Given the description of an element on the screen output the (x, y) to click on. 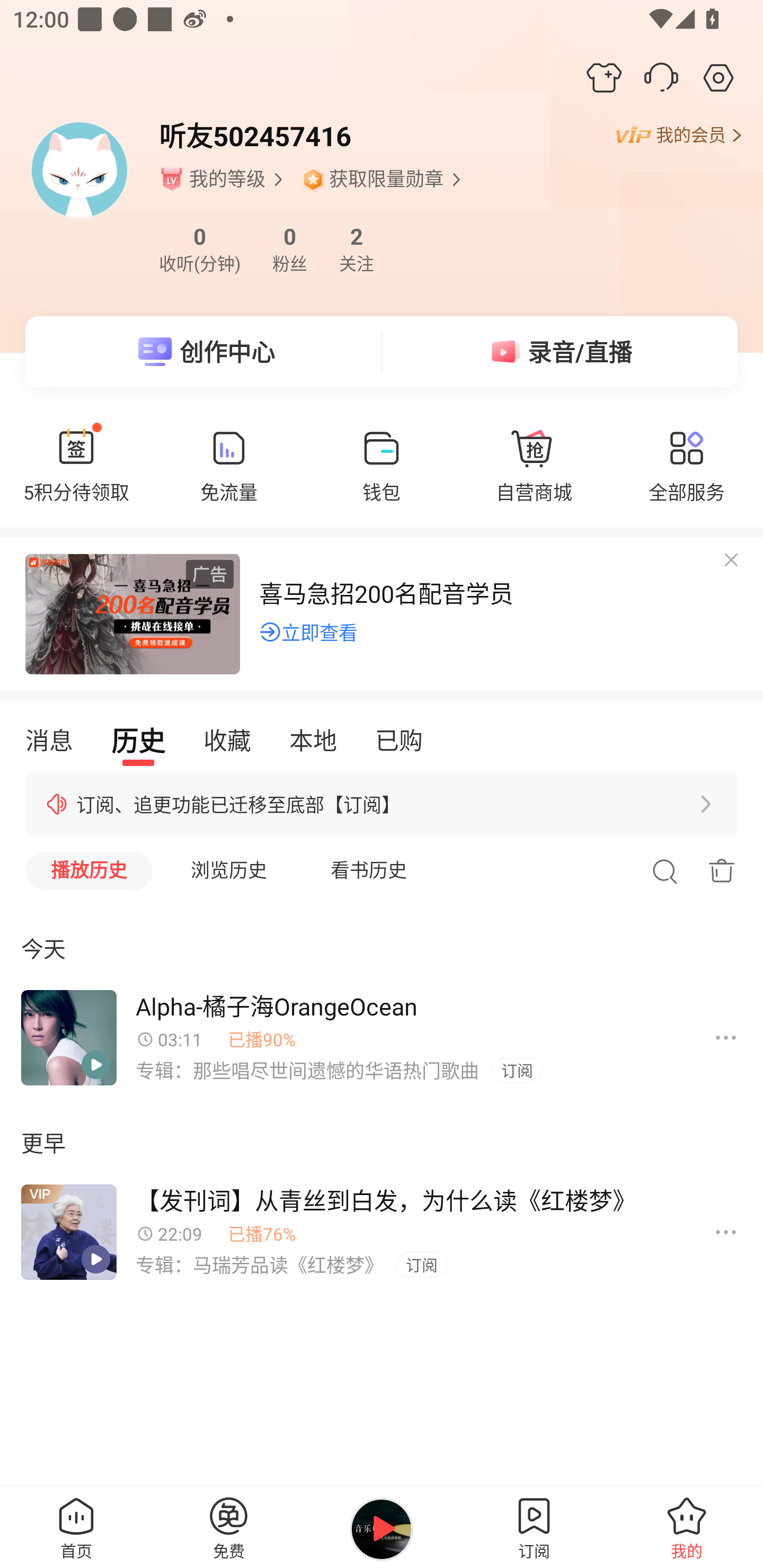
装扮中心 (603, 77)
客服 (660, 77)
设置 (717, 77)
听友502457416 (254, 135)
我的会员 (677, 135)
等级角标 我的等级 (222, 179)
获取限量勋章 (382, 179)
0 收听(分钟) (199, 249)
0 粉丝 (289, 249)
2 关注 (355, 249)
创作中心 (203, 351)
录音/直播 (559, 351)
5积分待领取 (76, 474)
免流量 (228, 474)
钱包 (381, 474)
自营商城 (533, 474)
全部服务 (686, 474)
喜马急招200名配音学员 立即查看 (381, 611)
关闭广告 (727, 570)
立即查看 (308, 631)
消息 (49, 740)
历史 (138, 740)
收藏 (227, 740)
本地 (313, 740)
已购 (398, 740)
订阅、追更功能已迁移至底部【订阅】 (381, 804)
播放历史 (88, 870)
浏览历史 (228, 870)
看书历史 (368, 870)
搜索历史 (664, 870)
批量删除 (721, 870)
更多 (725, 1037)
订阅 (516, 1070)
更多 (725, 1232)
订阅 (421, 1264)
首页 (76, 1526)
免费 (228, 1526)
订阅 (533, 1526)
我的 (686, 1526)
继续播放 (381, 1529)
